Given the description of an element on the screen output the (x, y) to click on. 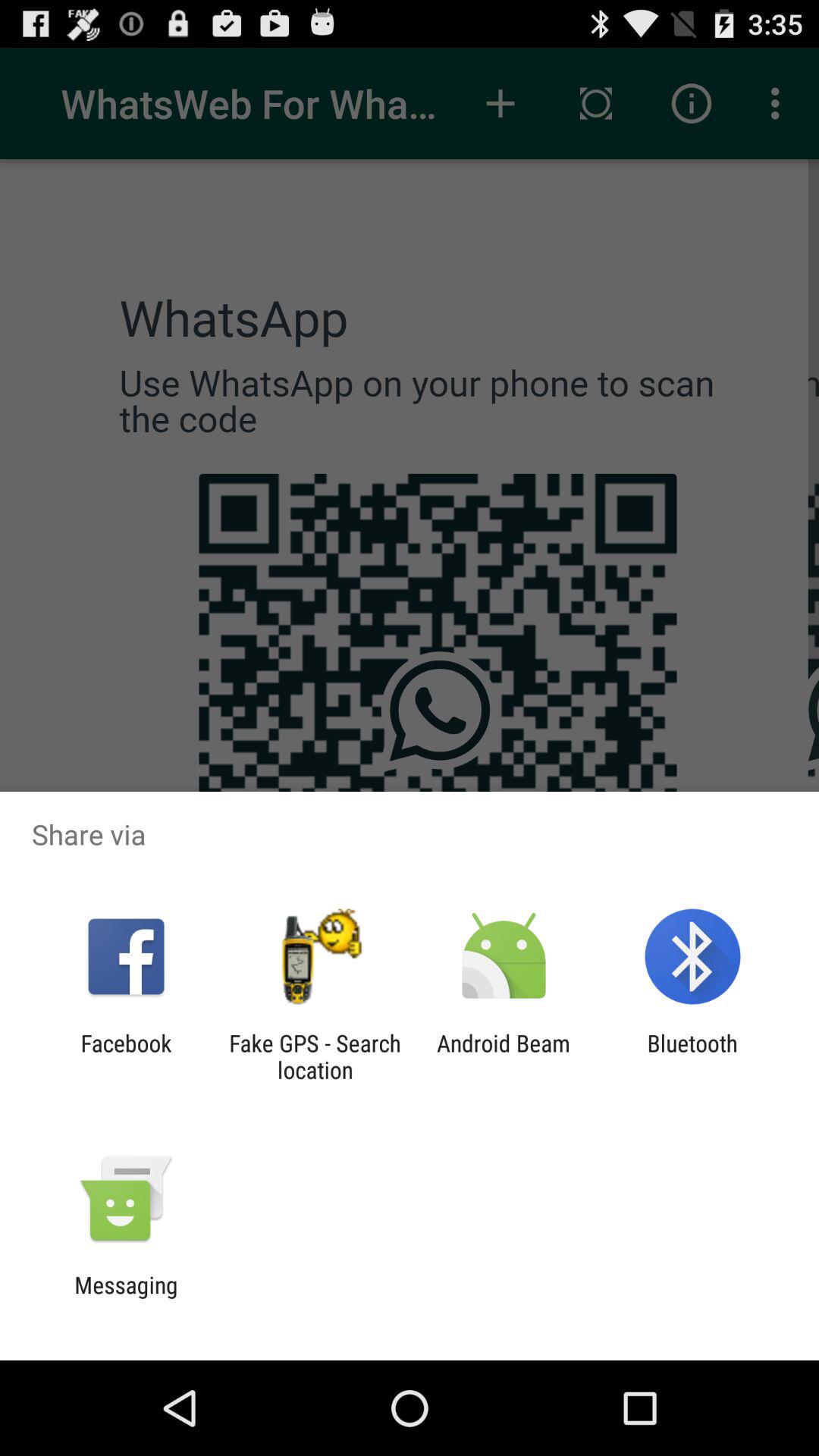
choose icon next to android beam app (692, 1056)
